Given the description of an element on the screen output the (x, y) to click on. 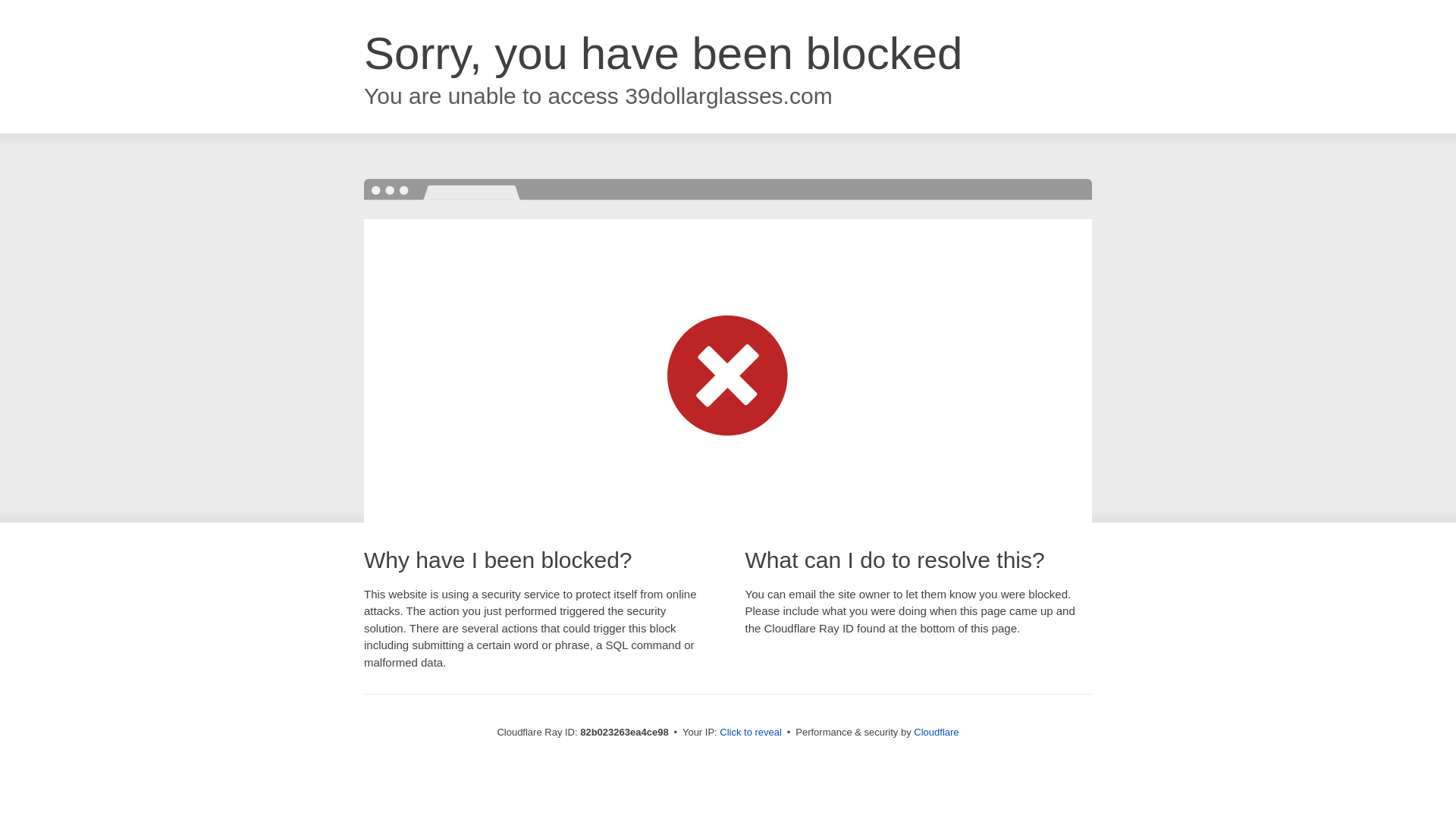
Click to reveal Element type: text (750, 732)
Cloudflare Element type: text (935, 731)
